Given the description of an element on the screen output the (x, y) to click on. 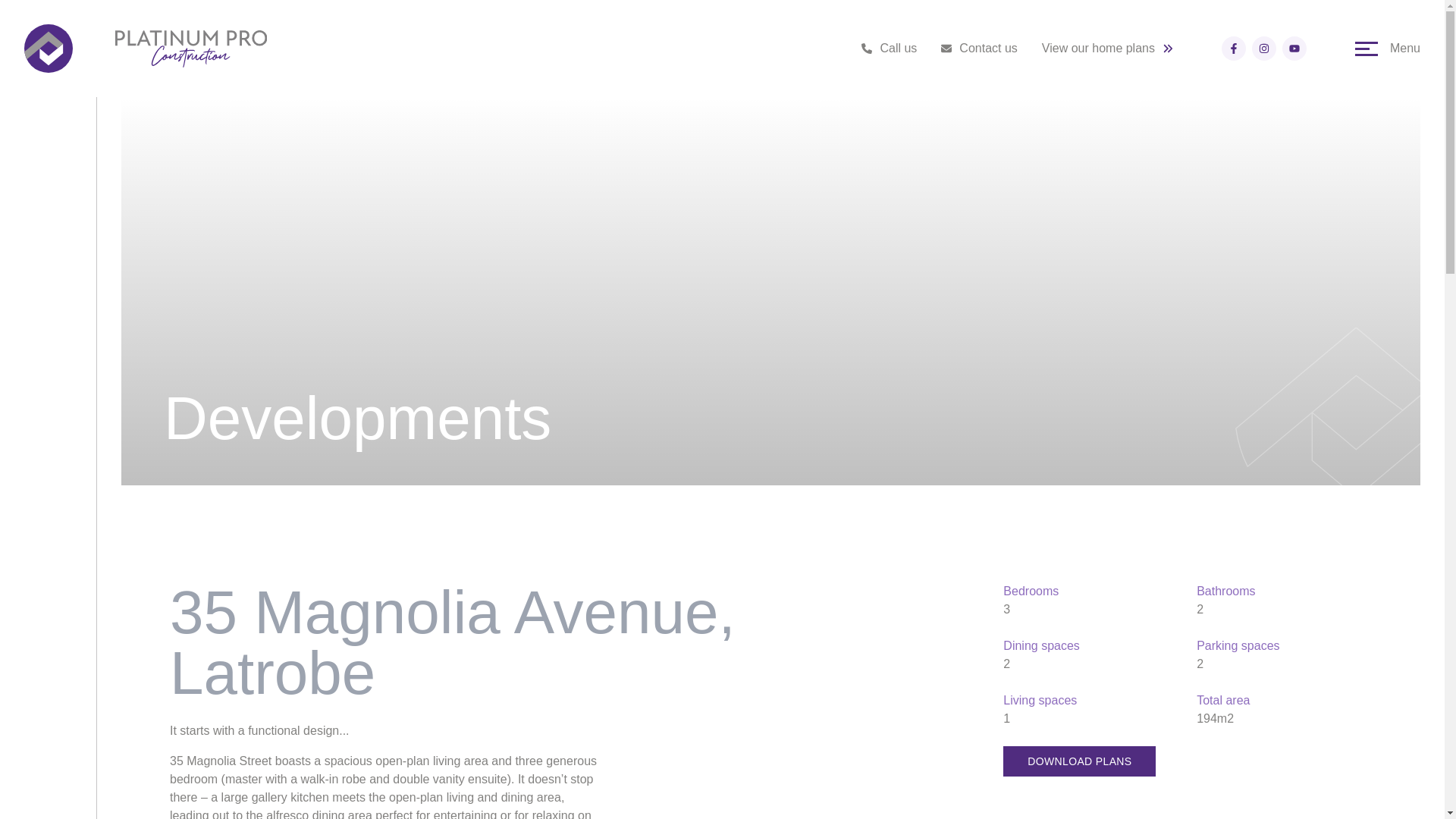
Follow us on Instagram (1264, 48)
Menu (1388, 48)
Contact us (978, 48)
Like us on Facebook (1233, 48)
Call us (889, 48)
Follow us on YouTube (1294, 48)
View our home plans (1107, 48)
DOWNLOAD PLANS (1079, 761)
